Given the description of an element on the screen output the (x, y) to click on. 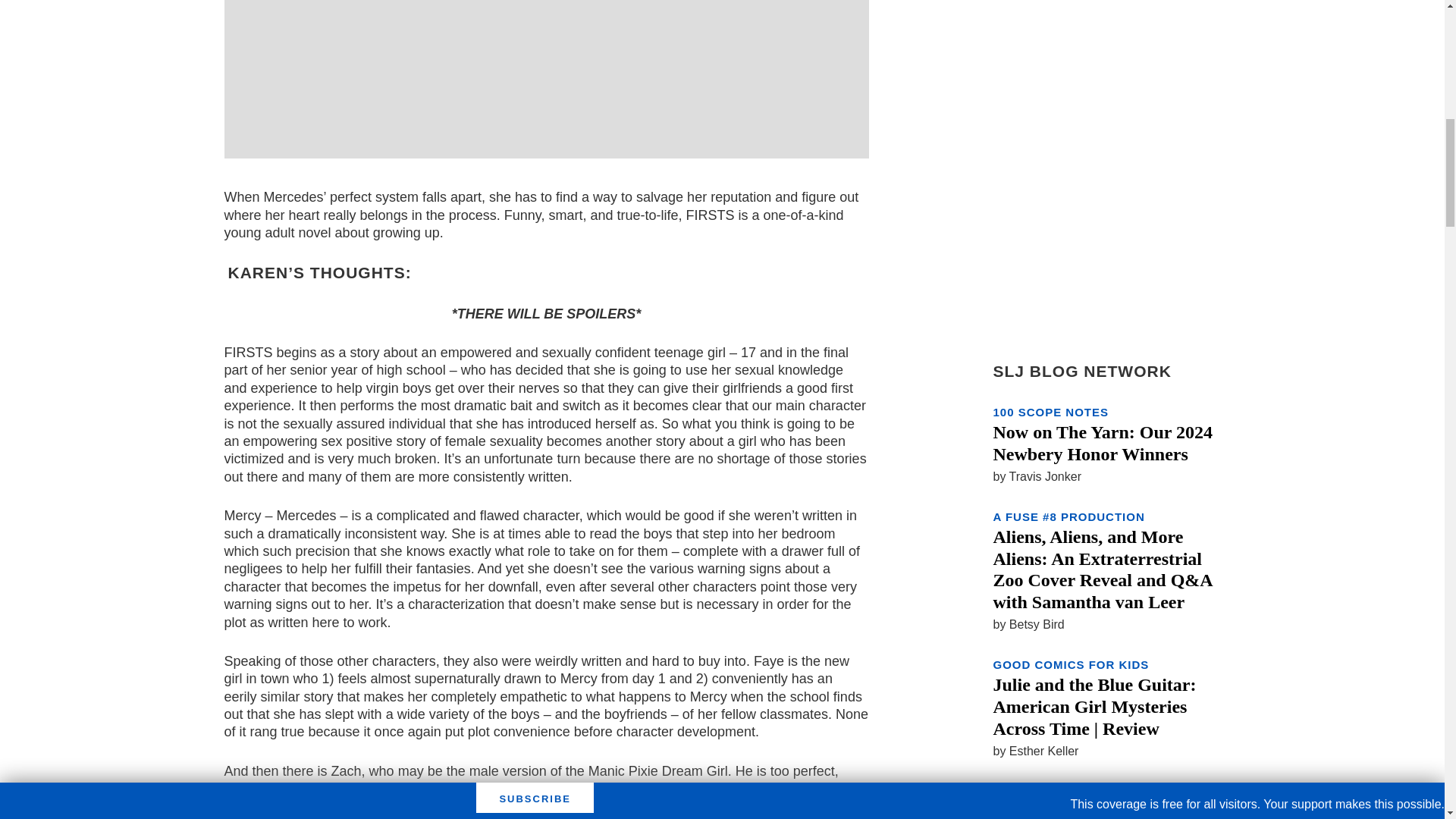
3rd party ad content (545, 71)
